Given the description of an element on the screen output the (x, y) to click on. 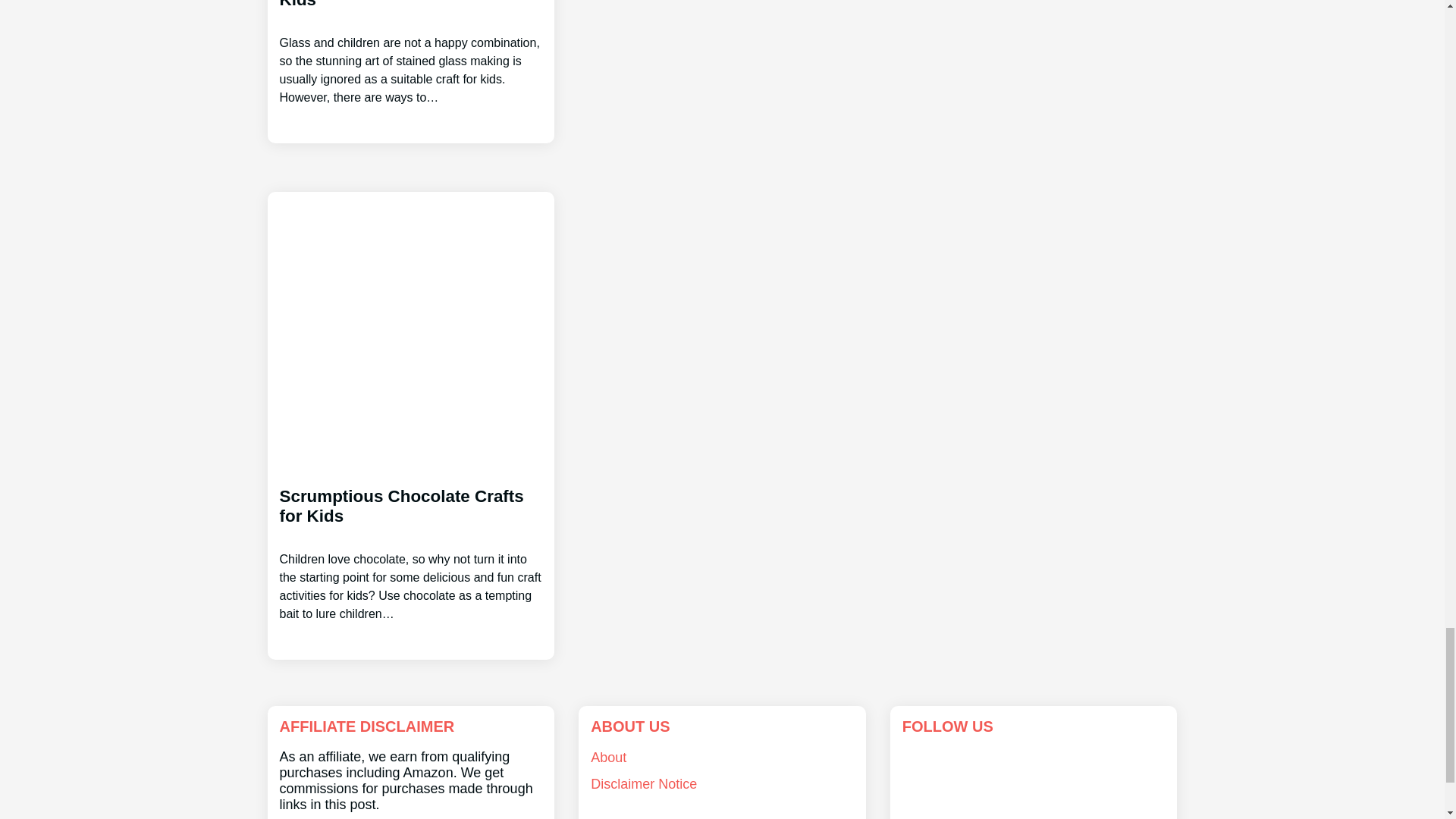
Disclaimer Notice (644, 783)
Scrumptious Chocolate Crafts for Kids (410, 540)
About (608, 757)
Stained Glass Craft Projects for Kids (410, 53)
